Given the description of an element on the screen output the (x, y) to click on. 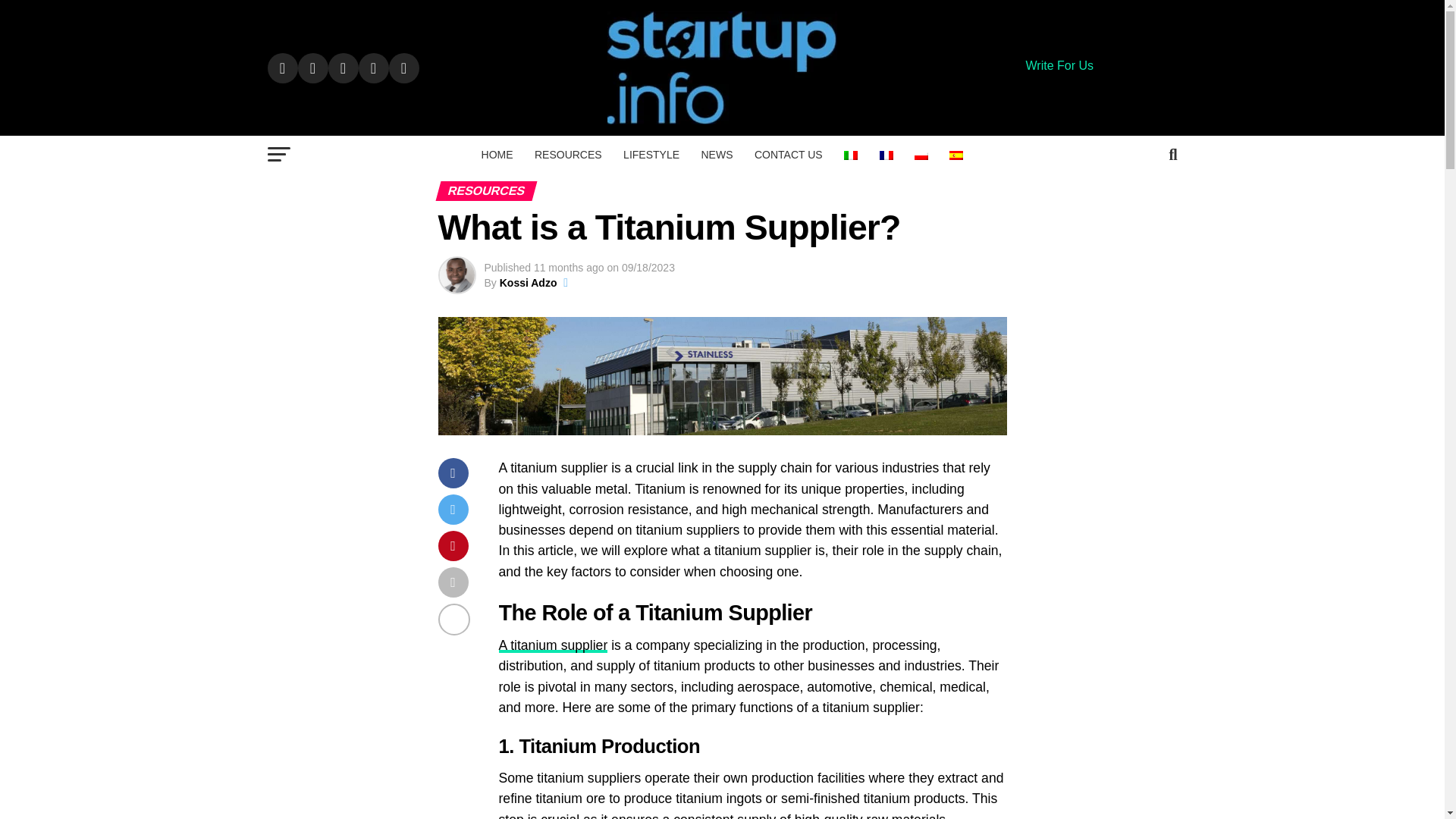
Write For Us (1059, 65)
HOME (496, 154)
RESOURCES (568, 154)
NEWS (716, 154)
LIFESTYLE (651, 154)
